Given the description of an element on the screen output the (x, y) to click on. 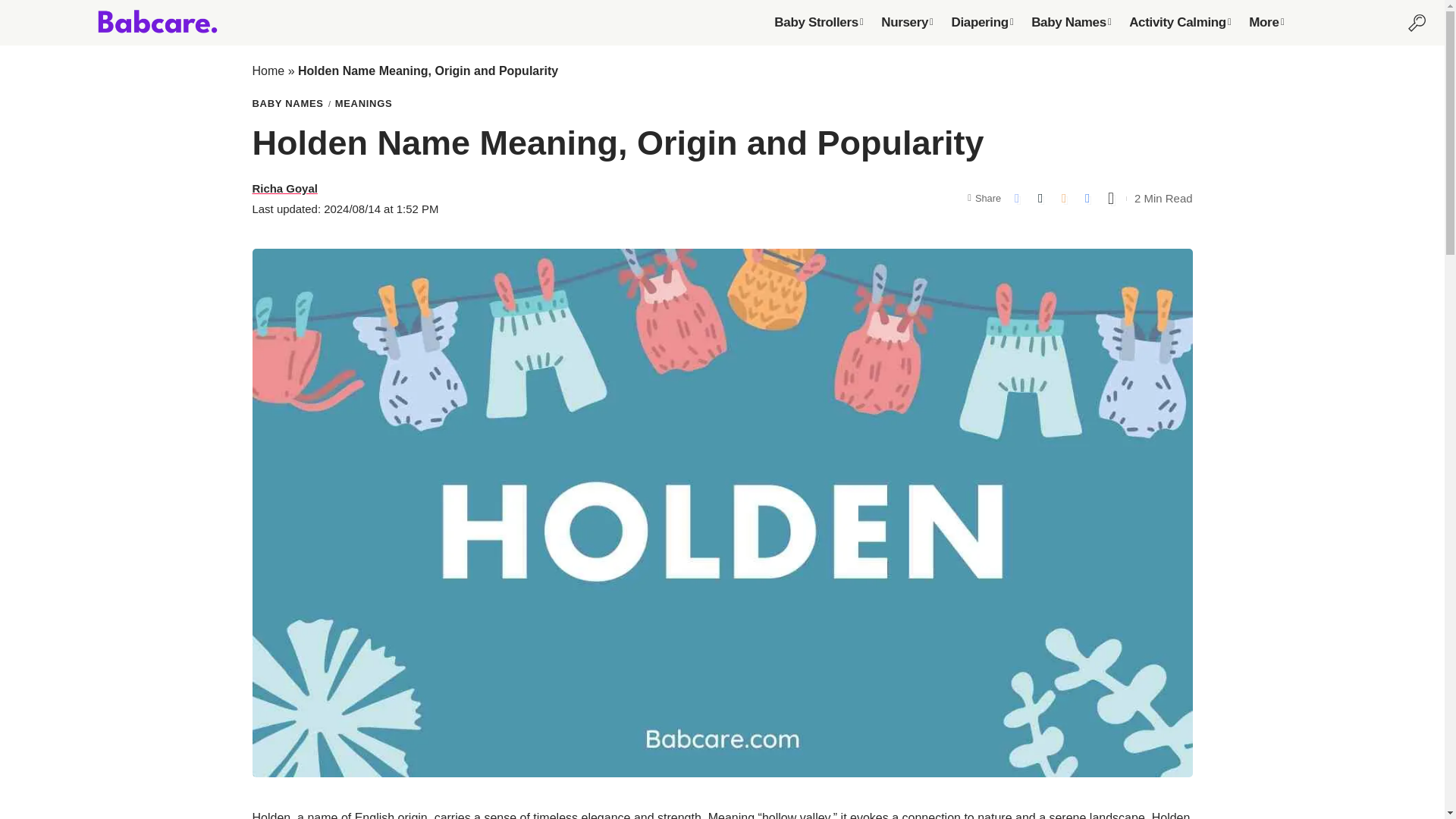
Diapering (982, 22)
More (1266, 22)
Baby Strollers (818, 22)
Baby Names (1070, 22)
Activity Calming (1179, 22)
Nursery (907, 22)
